Given the description of an element on the screen output the (x, y) to click on. 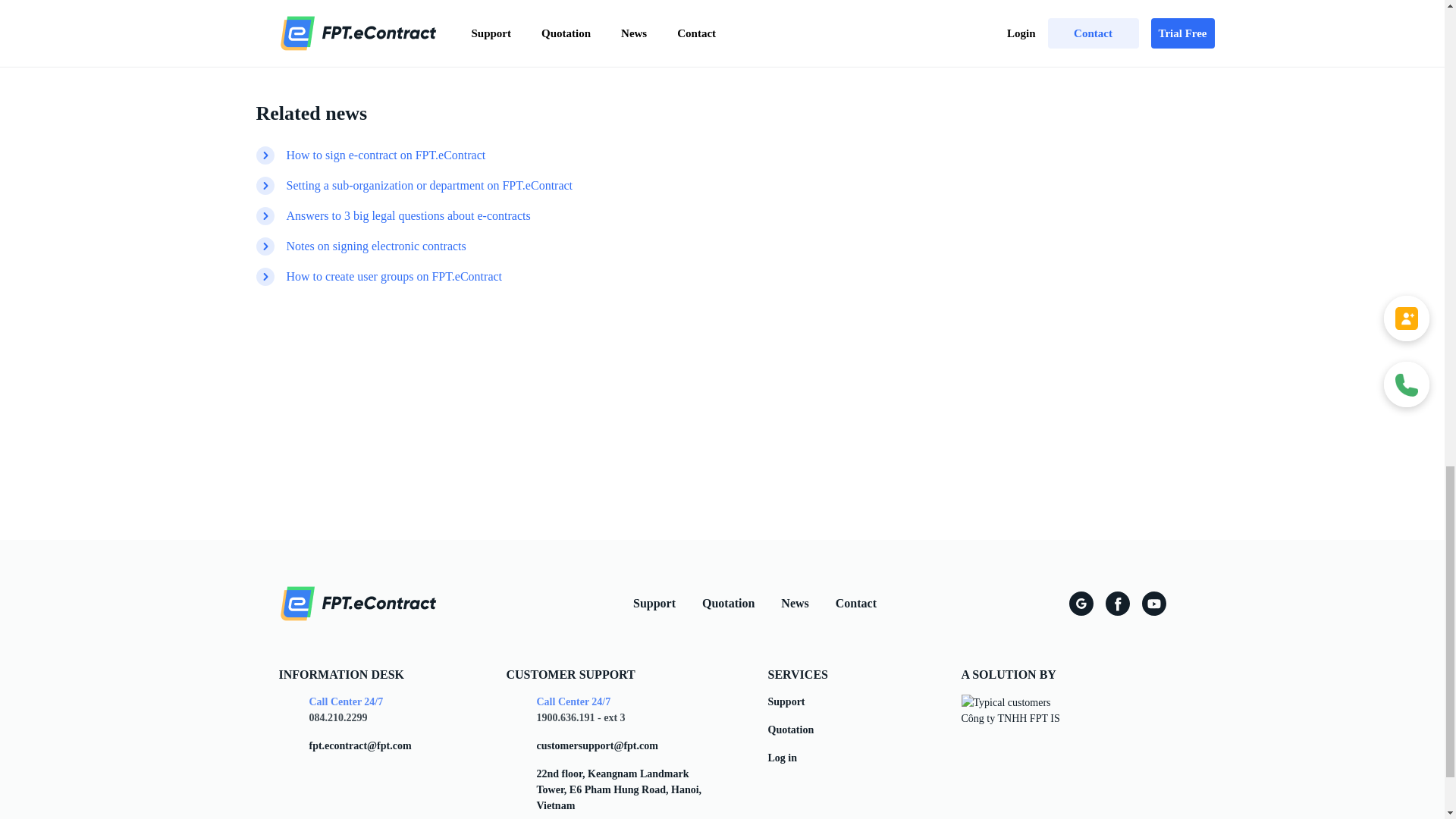
Setting a sub-organization or department on FPT.eContract (429, 185)
See details (722, 484)
Notes on signing electronic contracts (375, 246)
Read more (1040, 23)
Answers to 3 big legal questions about e-contracts (408, 216)
How to sign e-contract on FPT.eContract (386, 155)
How to create user groups on FPT.eContract (394, 276)
